Given the description of an element on the screen output the (x, y) to click on. 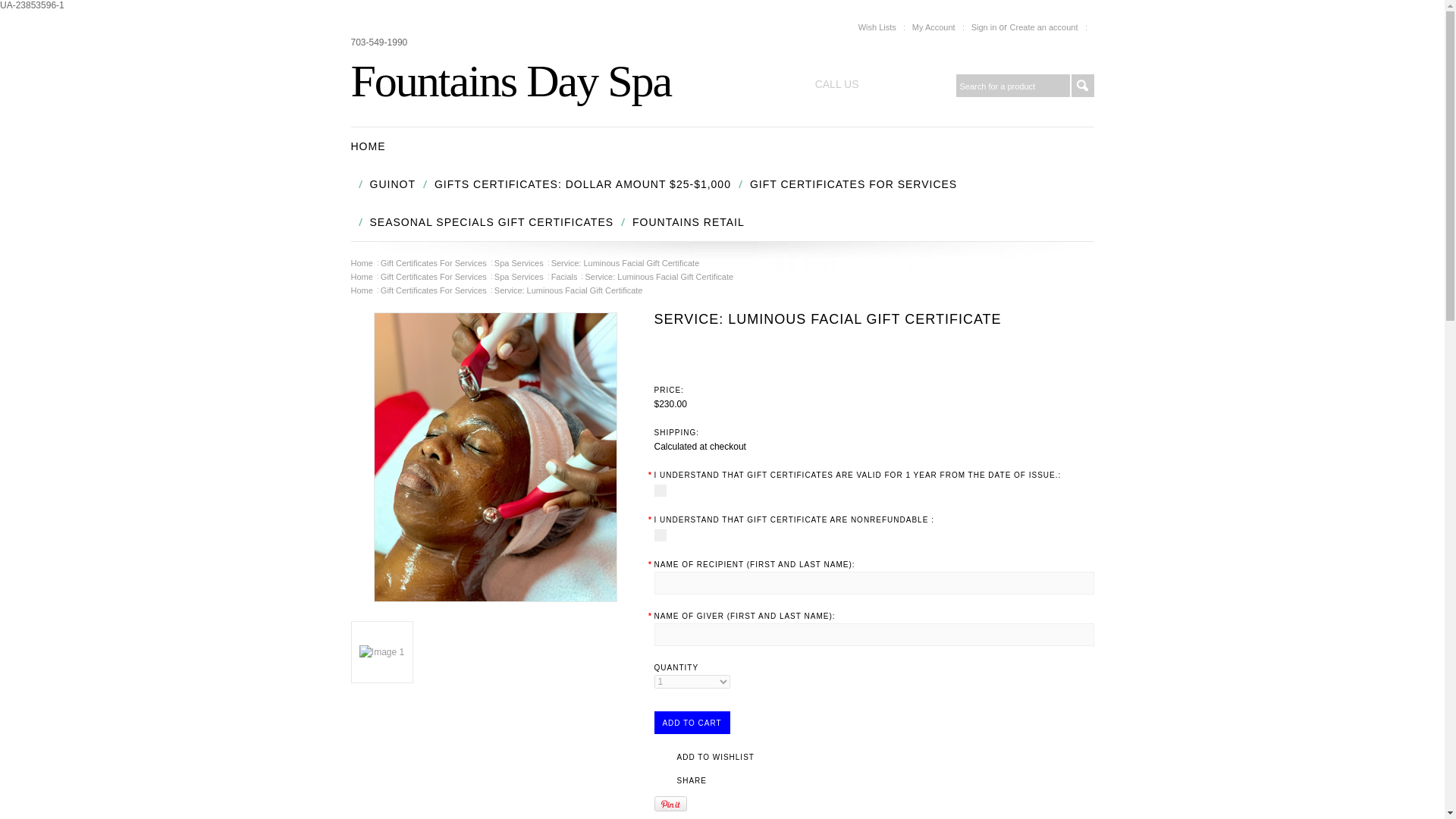
My Account (933, 27)
GO (1081, 85)
GIFT CERTIFICATES FOR SERVICES (852, 184)
on (659, 490)
HOME (367, 146)
Sign in (984, 27)
Wish Lists (877, 27)
SEASONAL SPECIALS GIFT CERTIFICATES (491, 221)
Image 1 (381, 652)
GUINOT (391, 184)
Add to Cart (691, 722)
Fountains Day Spa (510, 81)
on (659, 535)
FOUNTAINS RETAIL (687, 221)
Search for a product (1011, 85)
